Given the description of an element on the screen output the (x, y) to click on. 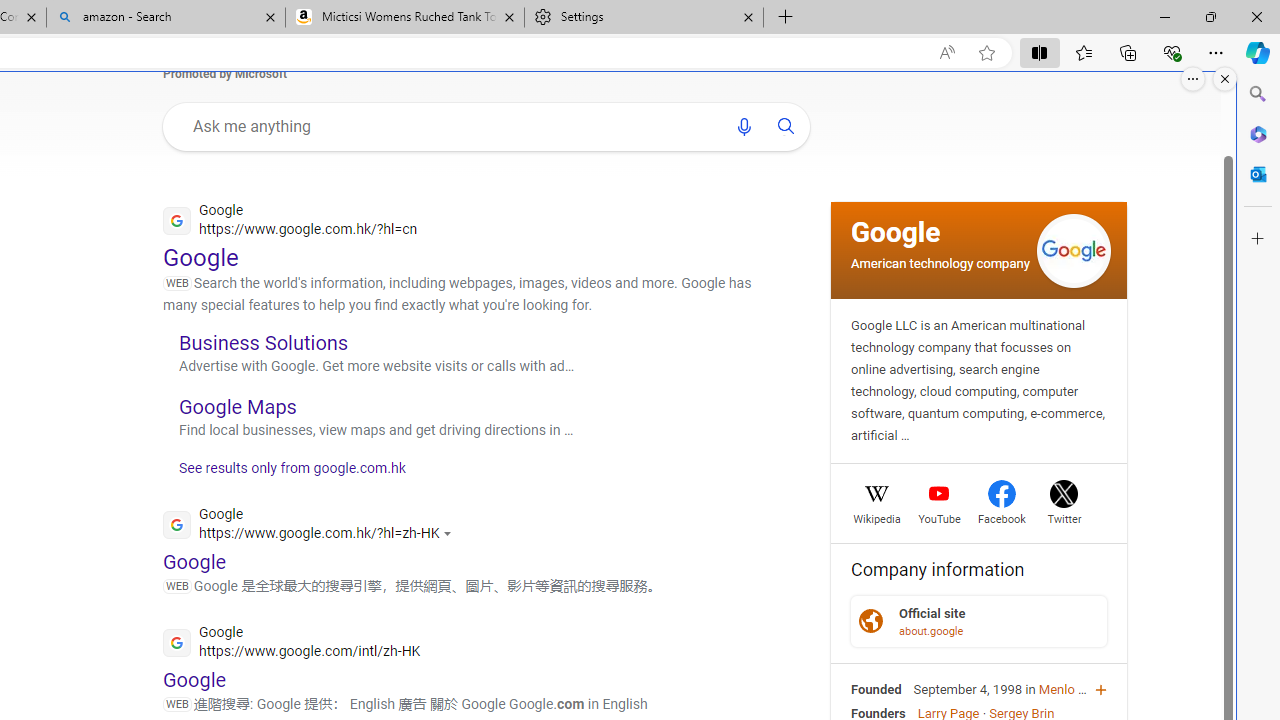
See more images of Google (1073, 250)
Class: rms_img (1193, 74)
Official Site Official site about.google (978, 621)
Founded (876, 688)
Class: sp-ofsite (870, 621)
Business Solutions (264, 341)
